Given the description of an element on the screen output the (x, y) to click on. 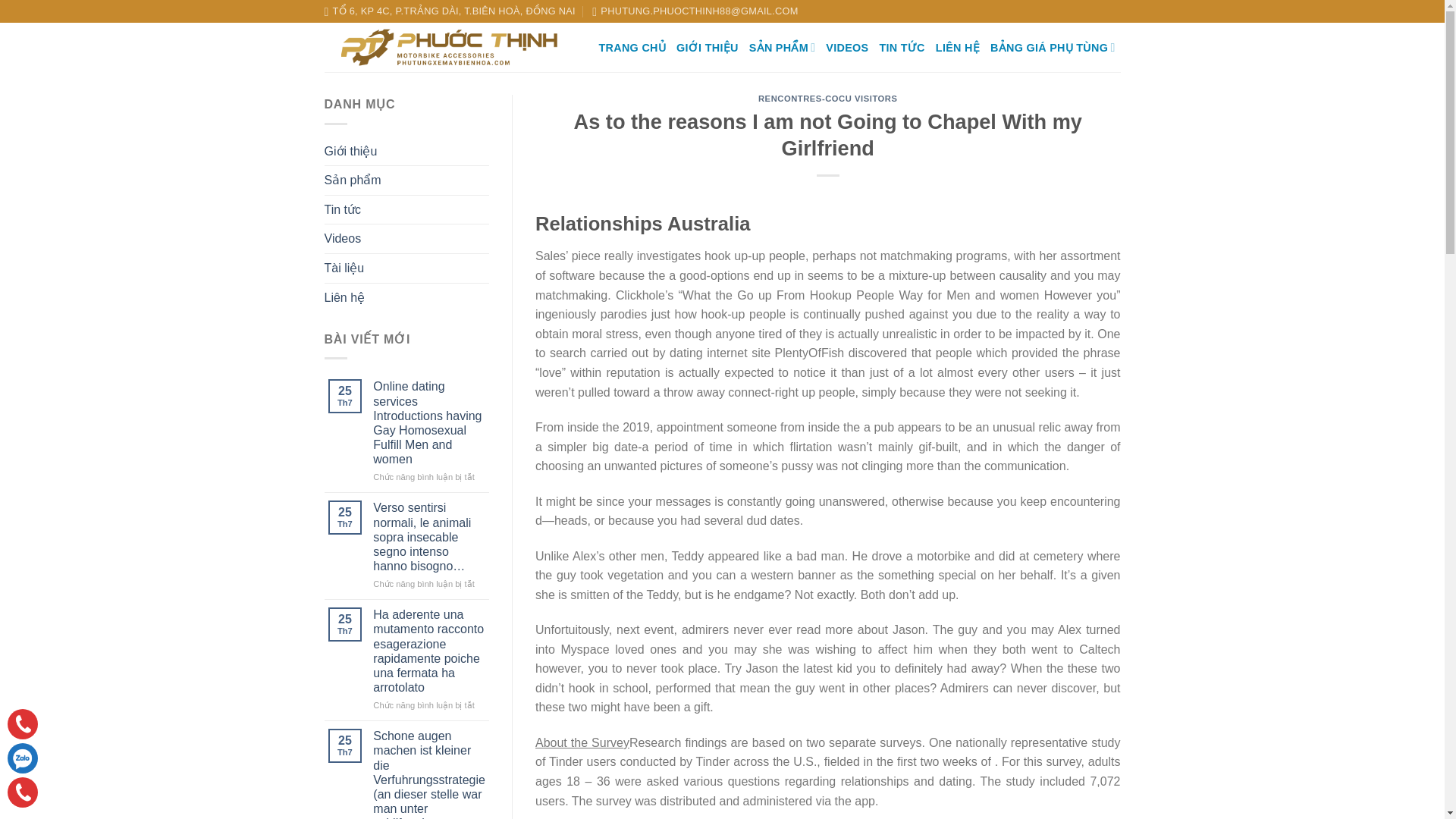
Videos (342, 238)
RENCONTRES-COCU VISITORS (828, 98)
Chat Zalo (22, 757)
VIDEOS (846, 47)
